Given the description of an element on the screen output the (x, y) to click on. 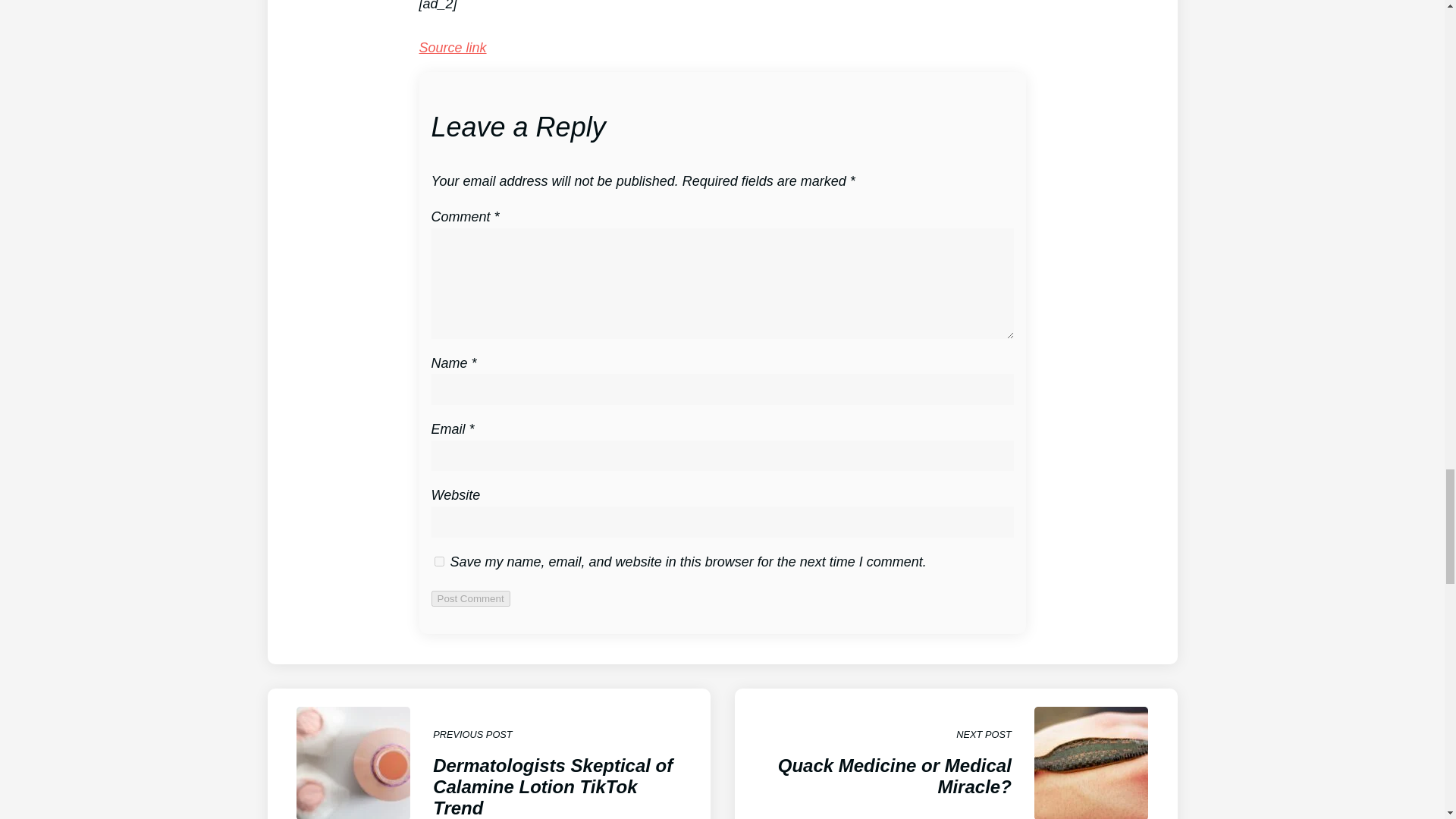
Source link (954, 753)
Post Comment (452, 47)
yes (469, 598)
Post Comment (438, 561)
